Given the description of an element on the screen output the (x, y) to click on. 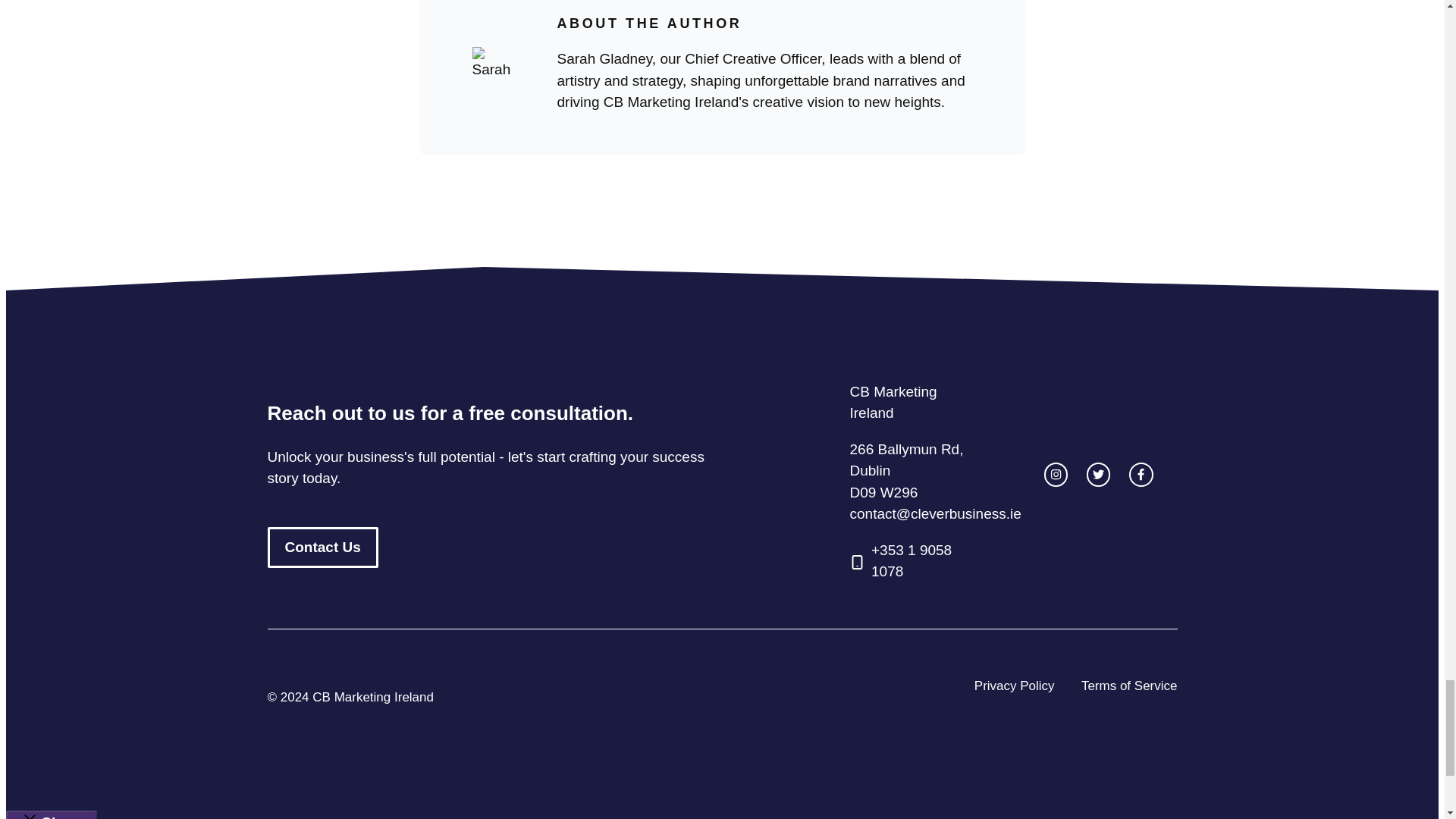
Terms of Service (1129, 686)
Contact Us (321, 547)
Privacy Policy (1014, 686)
Close (51, 814)
